Given the description of an element on the screen output the (x, y) to click on. 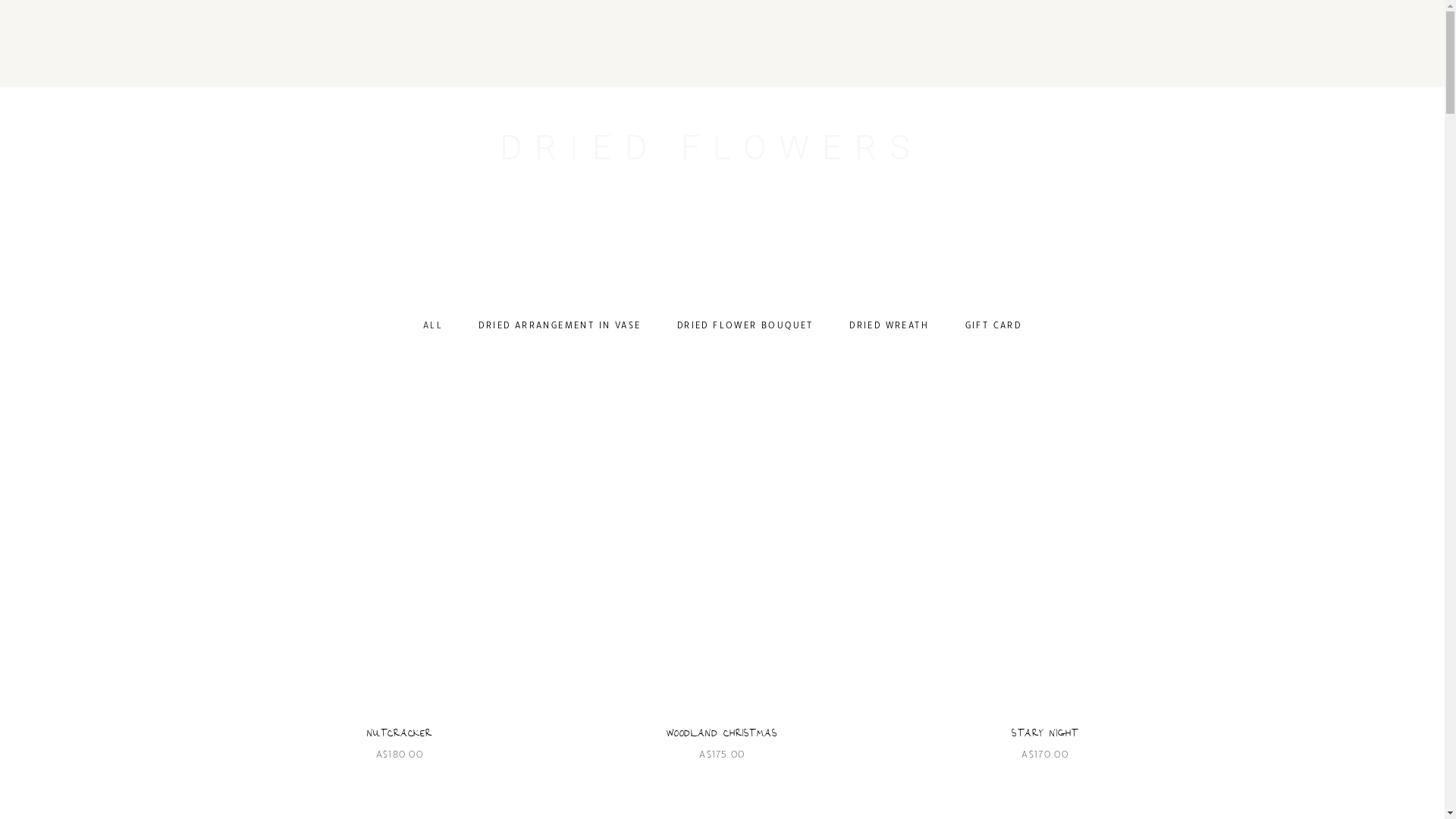
ALL Element type: text (432, 324)
DRIED ARRANGEMENT IN VASE Element type: text (559, 324)
DRIED FLOWER BOUQUET Element type: text (745, 324)
DRIED WREATH Element type: text (888, 324)
GIFT CARD Element type: text (993, 324)
